Given the description of an element on the screen output the (x, y) to click on. 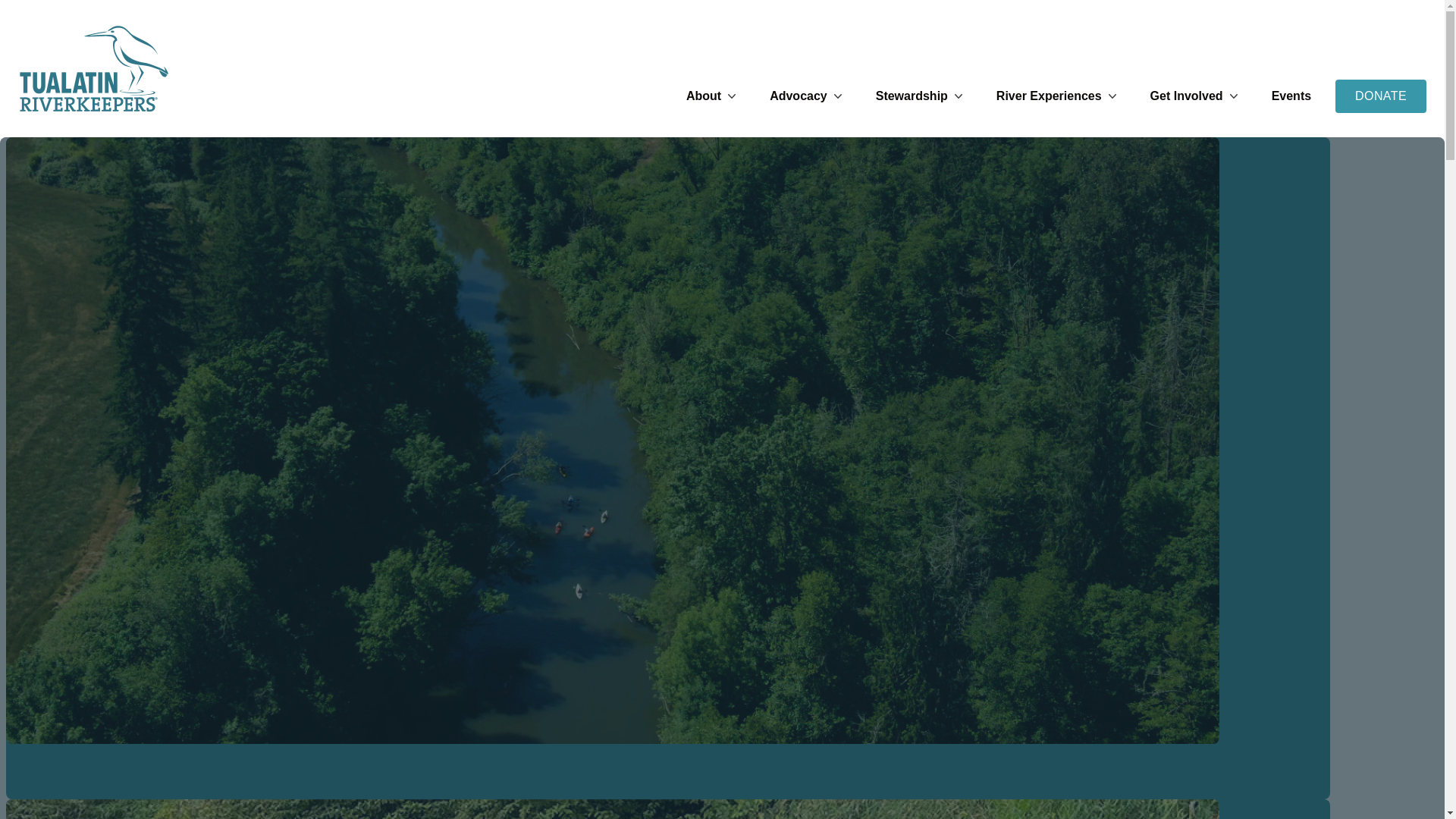
Stewardship (921, 95)
River Experiences (1057, 95)
Get Involved (1195, 95)
Advocacy (807, 95)
Events (1291, 95)
Tualatin Riverkeepers (93, 68)
About (712, 95)
DONATE (1380, 96)
